Given the description of an element on the screen output the (x, y) to click on. 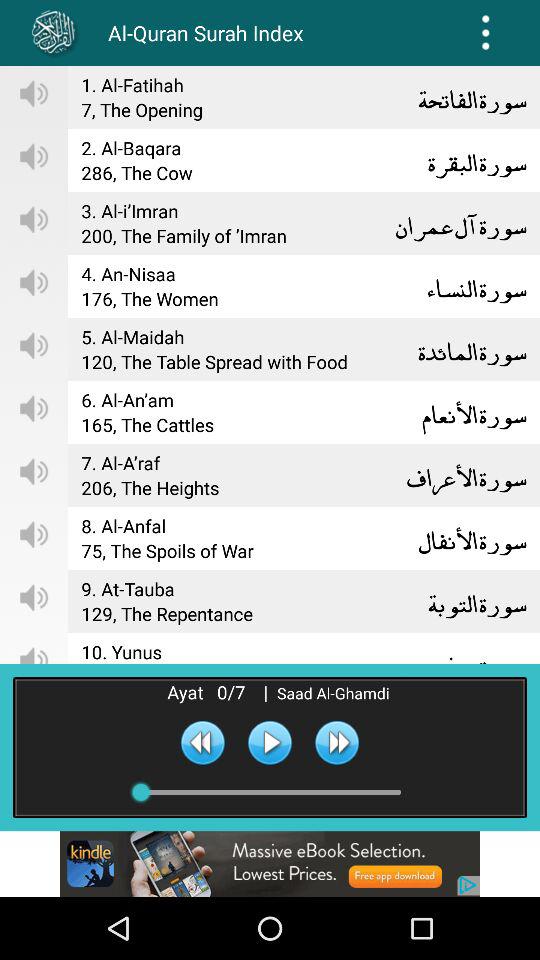
go to previous (202, 742)
